Given the description of an element on the screen output the (x, y) to click on. 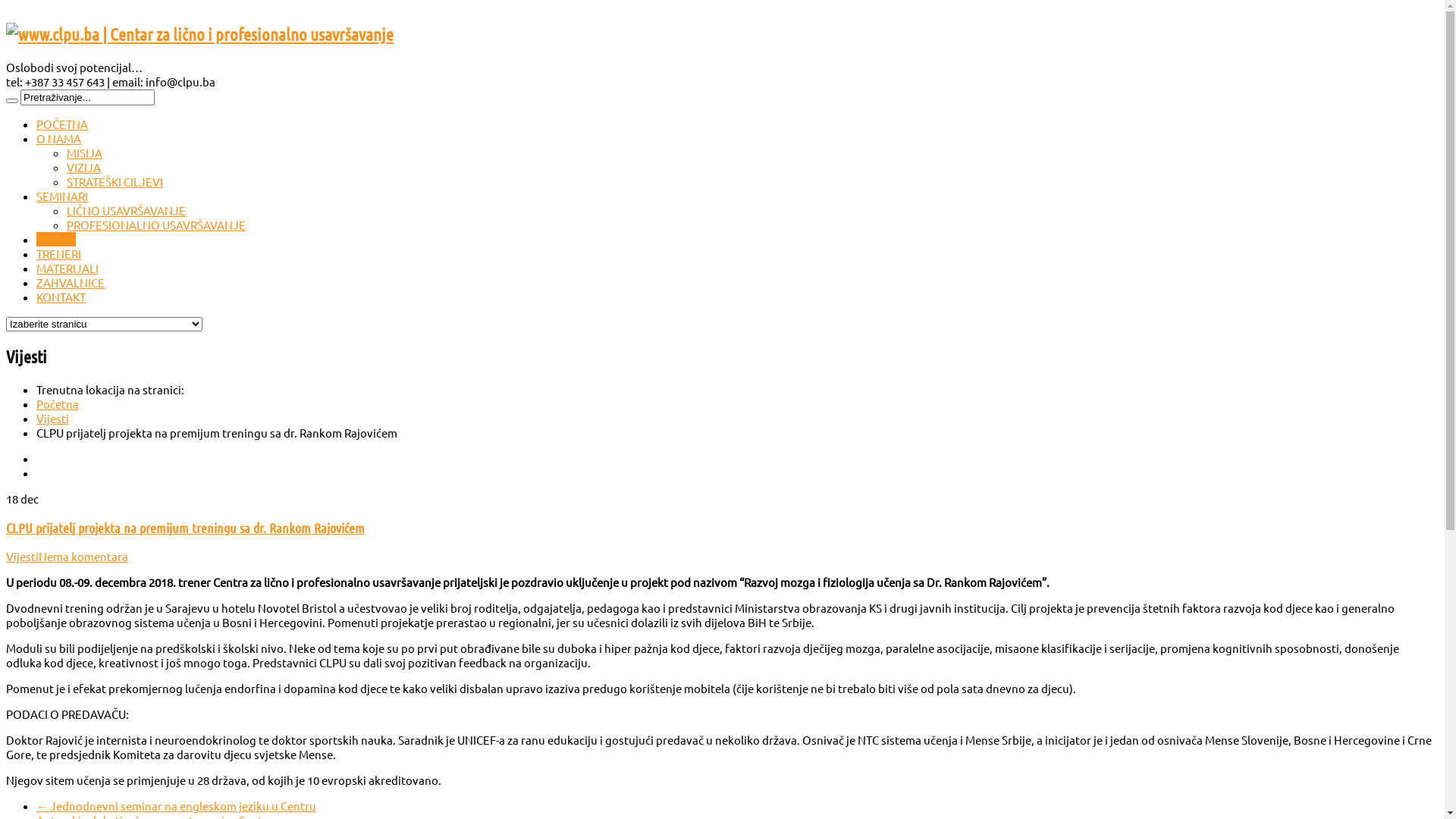
SEMINARI Element type: text (61, 195)
VIZIJA Element type: text (83, 167)
ZAHVALNICE Element type: text (70, 282)
Nema komentara Element type: text (83, 556)
MISIJA Element type: text (84, 152)
Vijesti Element type: text (22, 556)
Vijesti Element type: text (52, 418)
KONTAKT Element type: text (60, 296)
VIJESTI Element type: text (55, 239)
TRENERI Element type: text (58, 253)
MATERIJALI Element type: text (67, 267)
O NAMA Element type: text (58, 138)
